Given the description of an element on the screen output the (x, y) to click on. 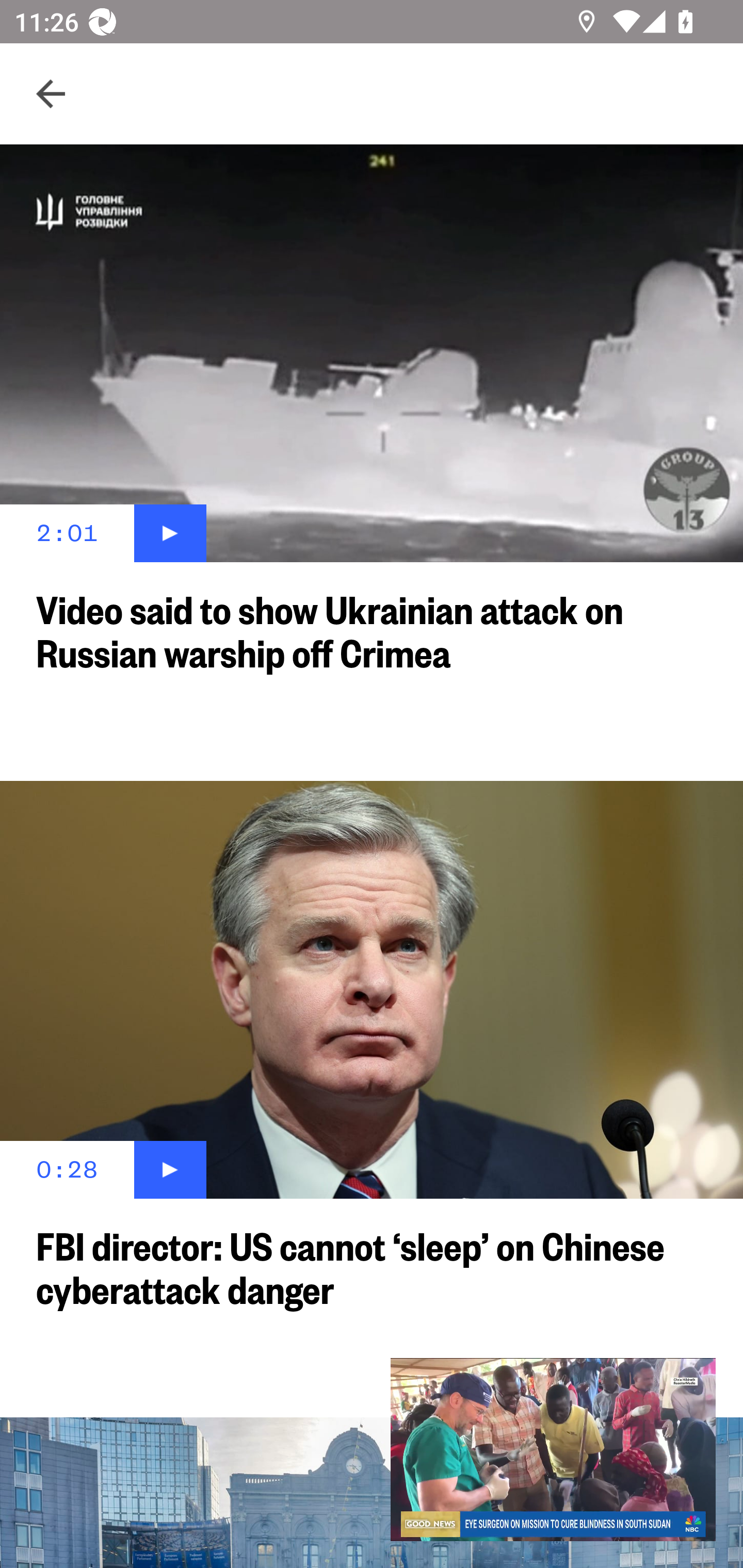
Navigate up (50, 93)
